Given the description of an element on the screen output the (x, y) to click on. 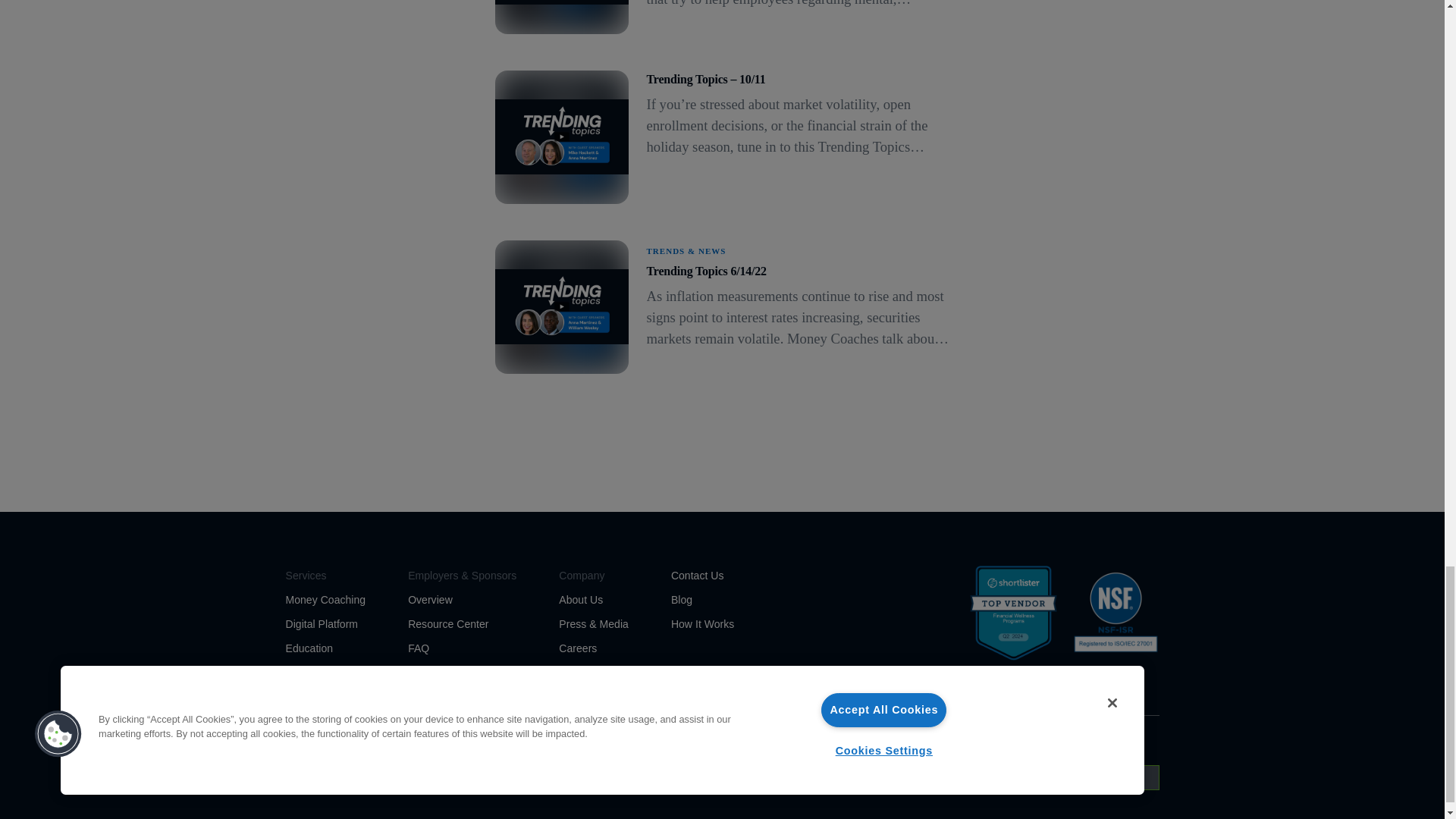
Money Coaching (325, 599)
Digital Platform (321, 623)
Education (309, 648)
Careers (577, 648)
Contact Us (697, 575)
How It Works (702, 623)
FAQ (418, 648)
Blog (682, 599)
About Us (580, 599)
Resource Center (447, 623)
Overview (429, 599)
